Given the description of an element on the screen output the (x, y) to click on. 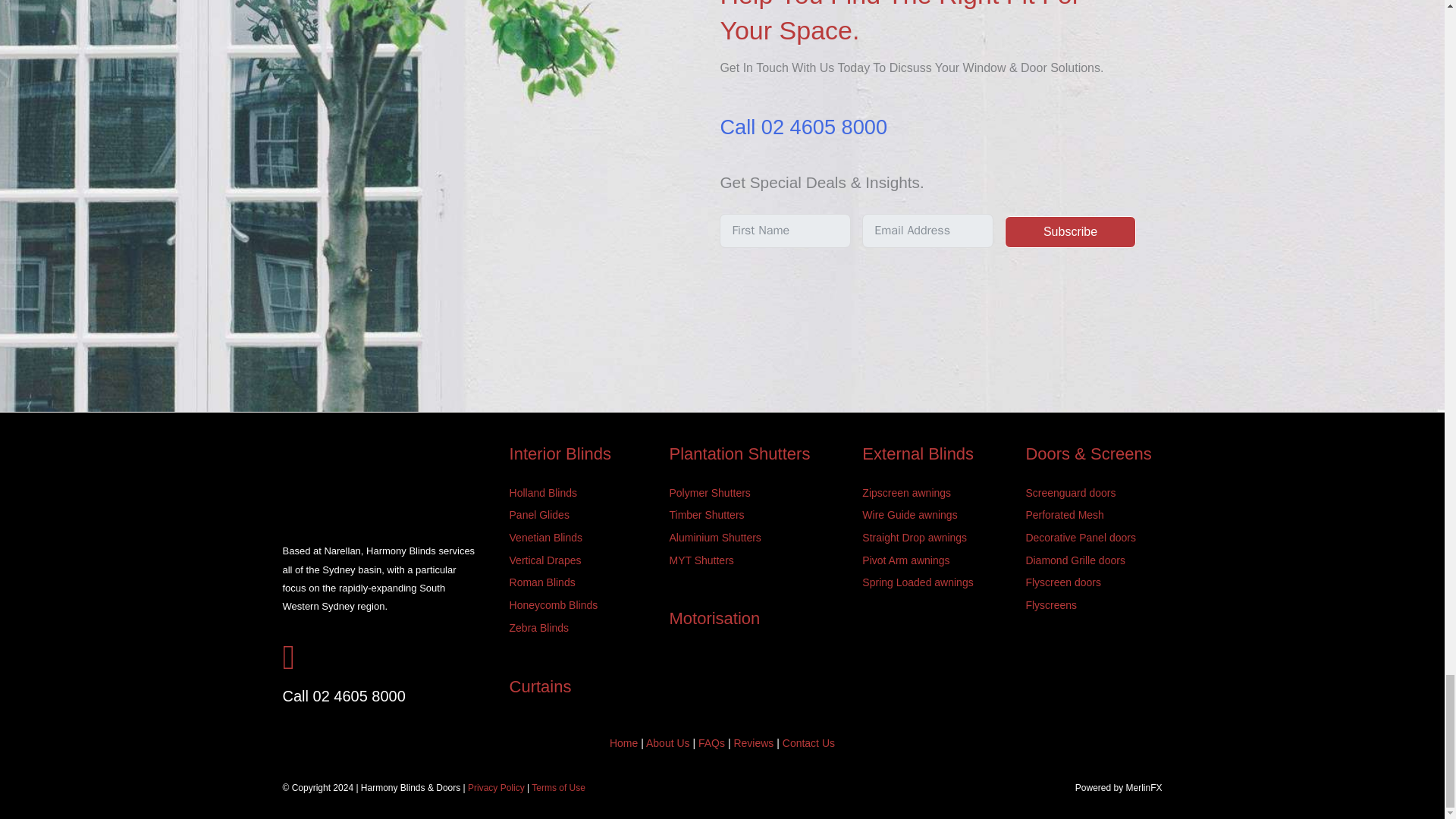
Interior Blinds (560, 453)
Call 02 4605 8000 (802, 126)
Curtains (540, 686)
